Given the description of an element on the screen output the (x, y) to click on. 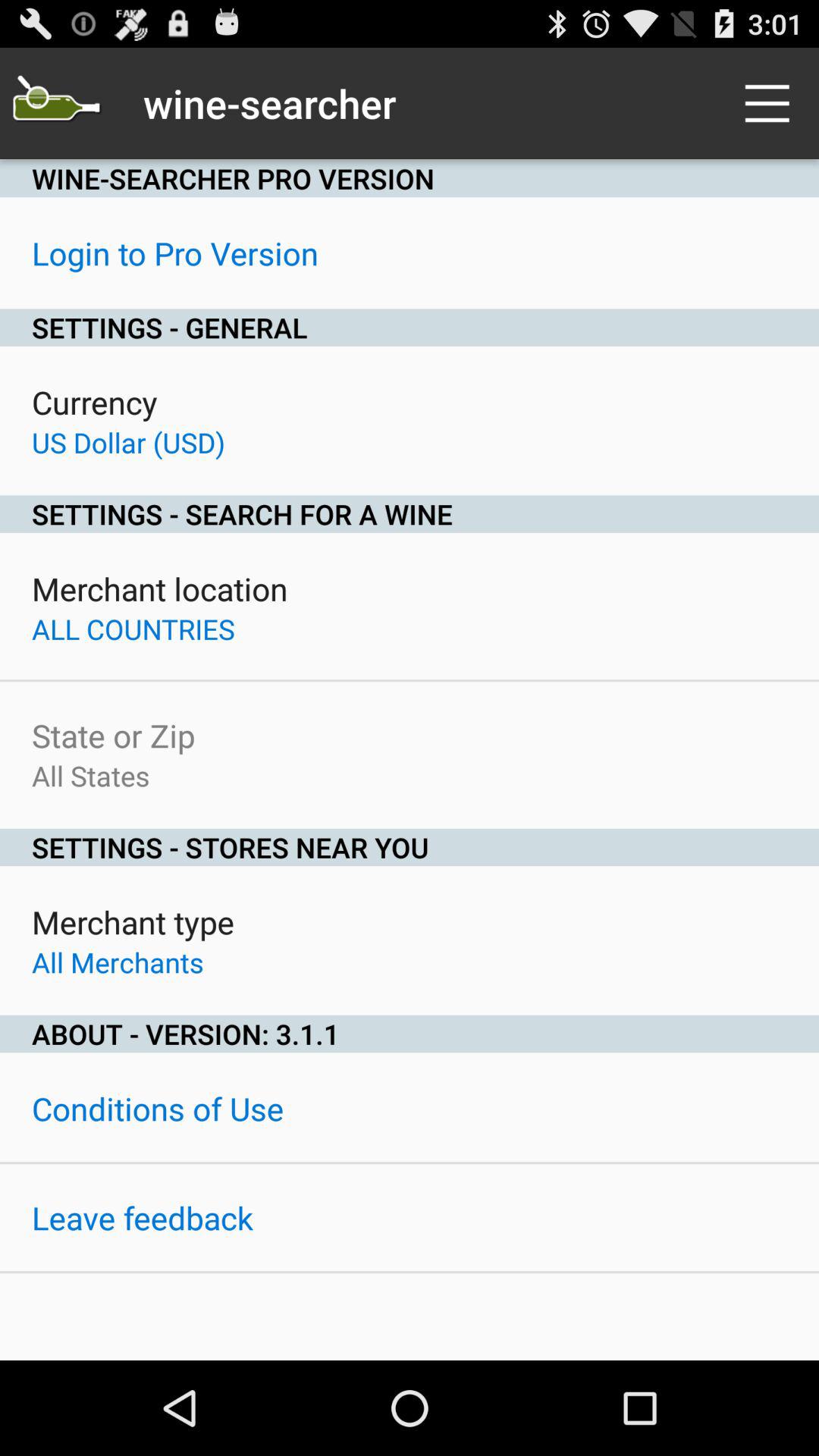
click icon next to the wine-searcher item (55, 103)
